Given the description of an element on the screen output the (x, y) to click on. 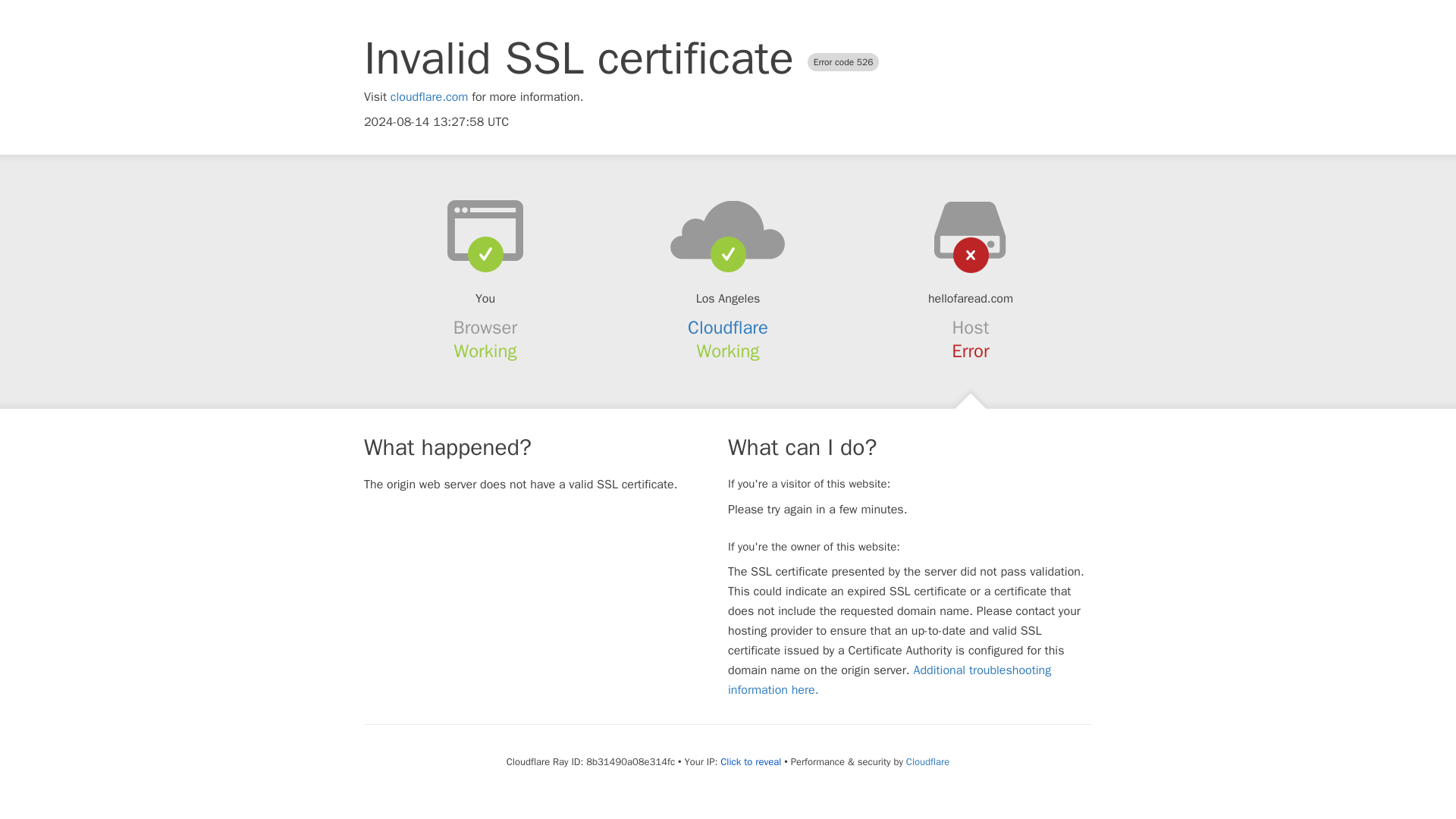
Additional troubleshooting information here. (889, 679)
Cloudflare (727, 327)
cloudflare.com (429, 96)
Cloudflare (927, 761)
Click to reveal (750, 762)
